Given the description of an element on the screen output the (x, y) to click on. 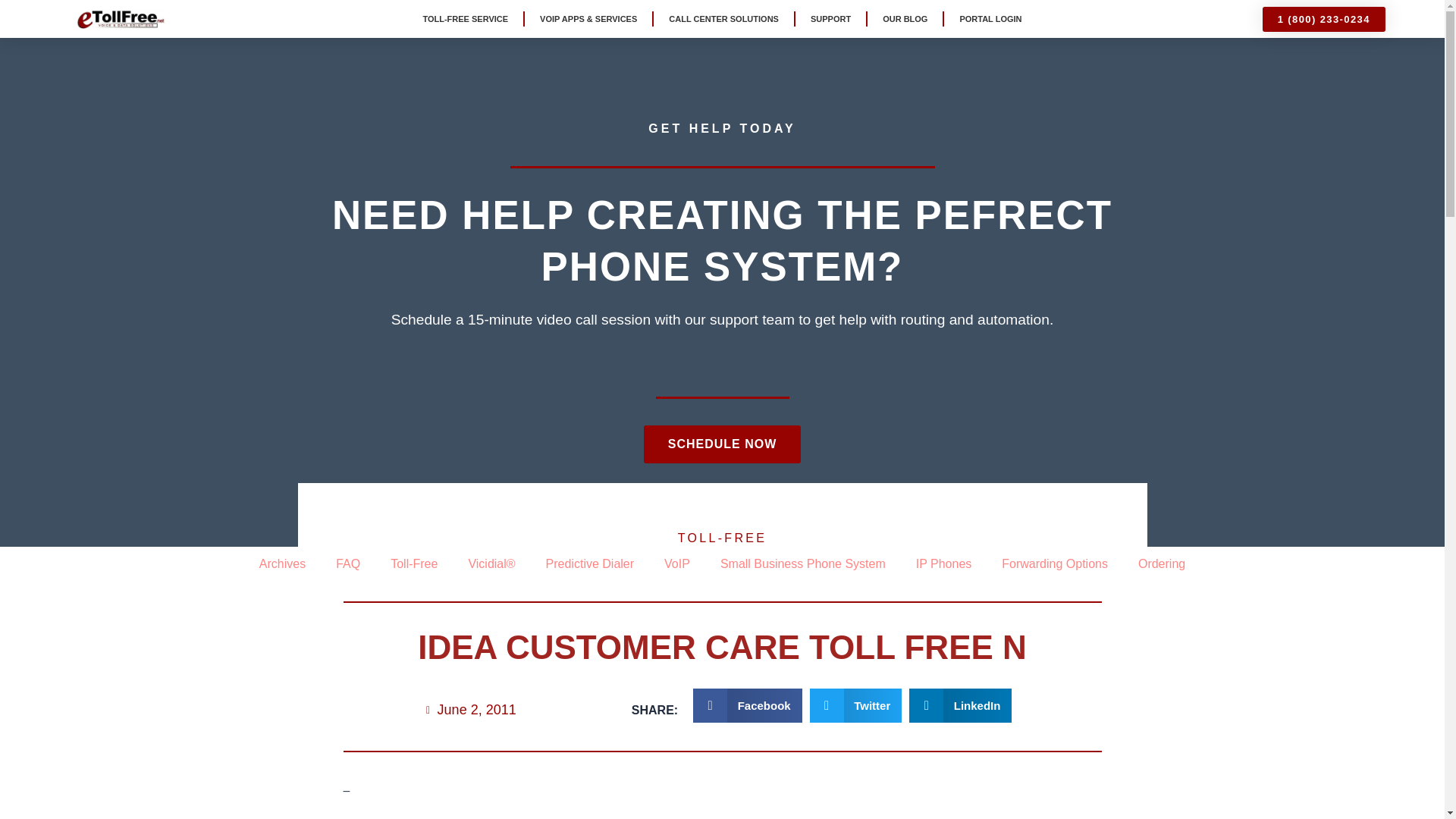
TOLL-FREE SERVICE (464, 18)
SUPPORT (830, 18)
OUR BLOG (904, 18)
PORTAL LOGIN (989, 18)
CALL CENTER SOLUTIONS (723, 18)
